Given the description of an element on the screen output the (x, y) to click on. 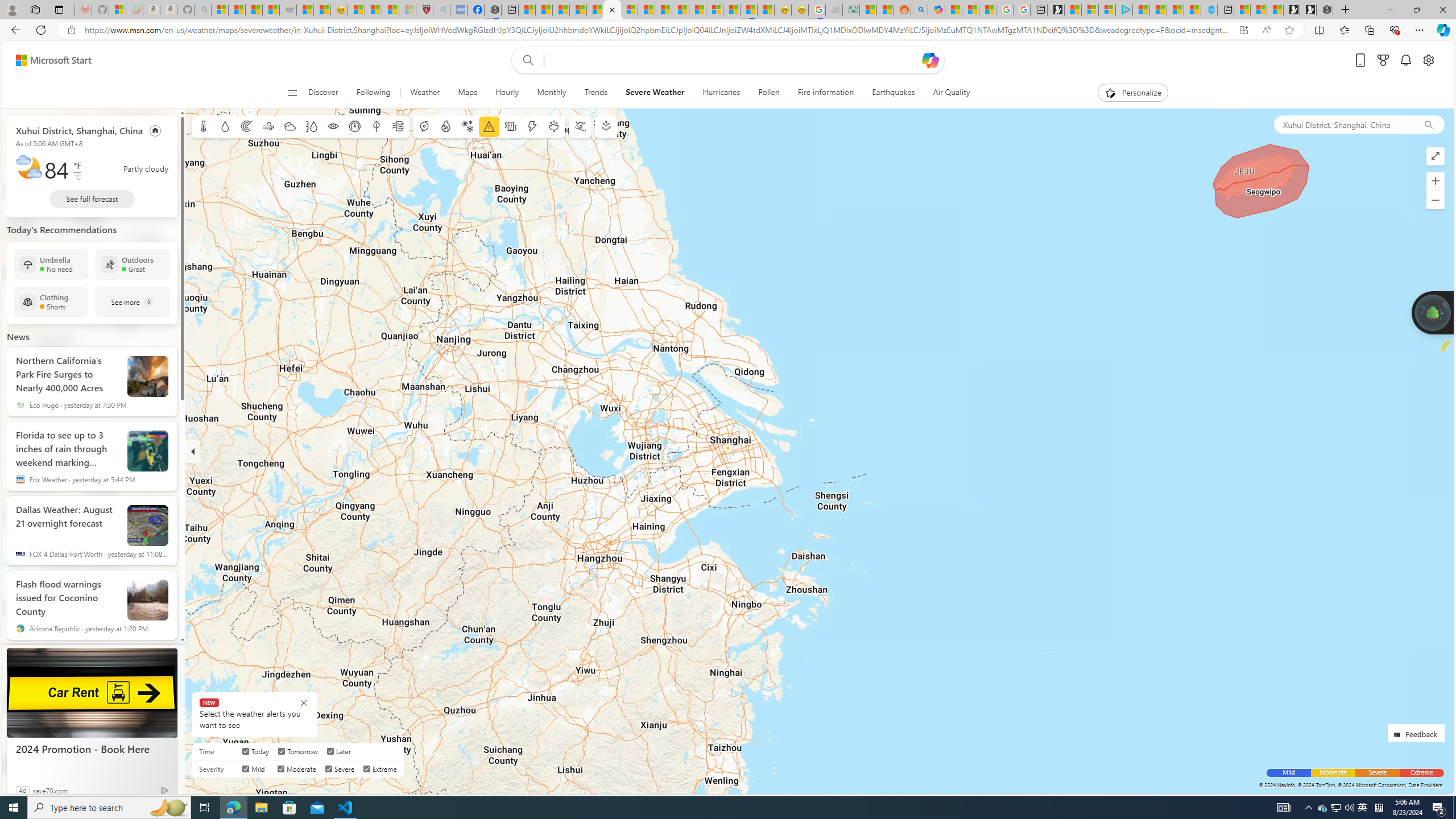
Humidity (311, 126)
Clouds (289, 126)
Arizona Republic (20, 628)
Hurricanes (721, 92)
Maps (467, 92)
Earthquakes (893, 92)
Trends (595, 92)
